Given the description of an element on the screen output the (x, y) to click on. 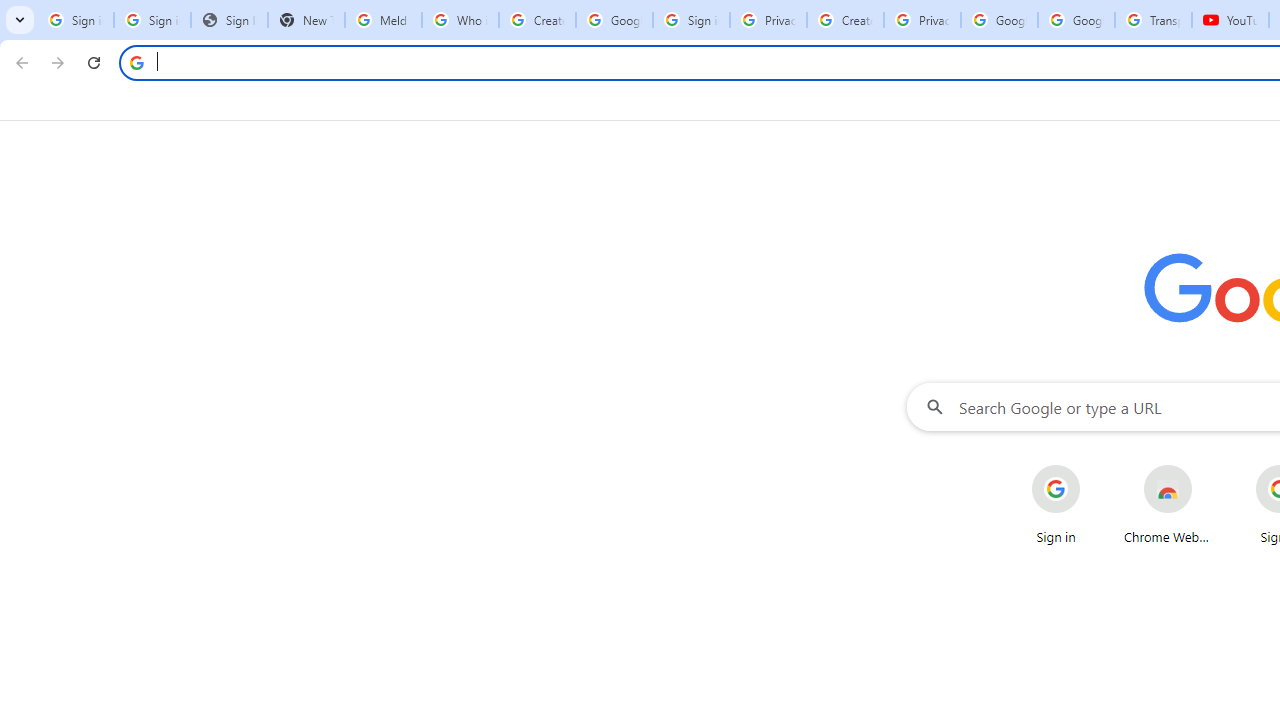
Create your Google Account (845, 20)
New Tab (306, 20)
YouTube (1229, 20)
Chrome Web Store (1167, 504)
Google Account (1076, 20)
